Given the description of an element on the screen output the (x, y) to click on. 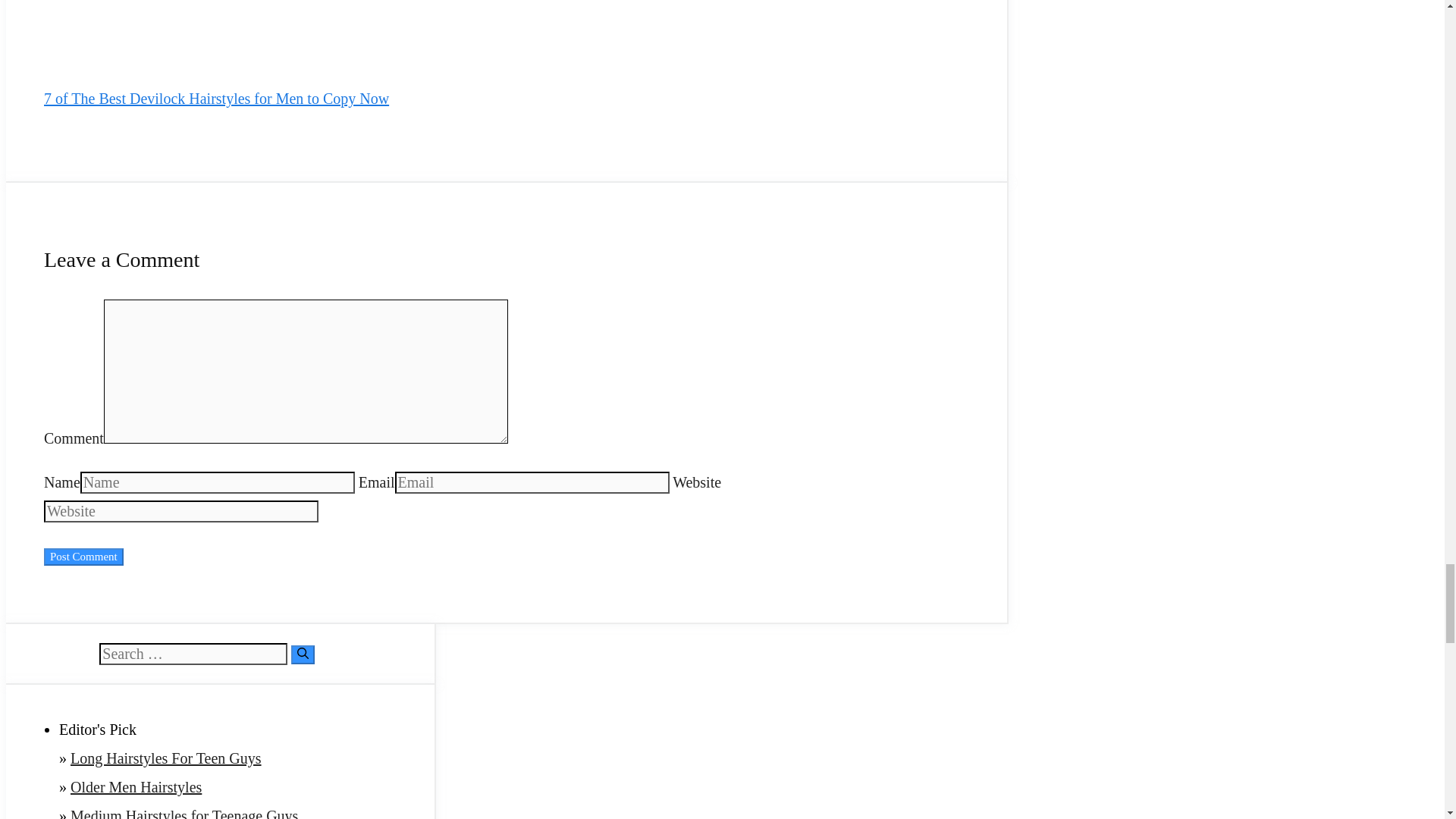
Post Comment (83, 556)
Medium Hairstyles for Teenage Guys (183, 813)
7 of The Best Devilock Hairstyles for Men to Copy Now (215, 98)
Long Hairstyles For Teen Guys (165, 758)
Search for: (192, 653)
Post Comment (83, 556)
7 of The Best Devilock Hairstyles for Men to Copy Now (156, 54)
Older Men Hairstyles (135, 786)
